Given the description of an element on the screen output the (x, y) to click on. 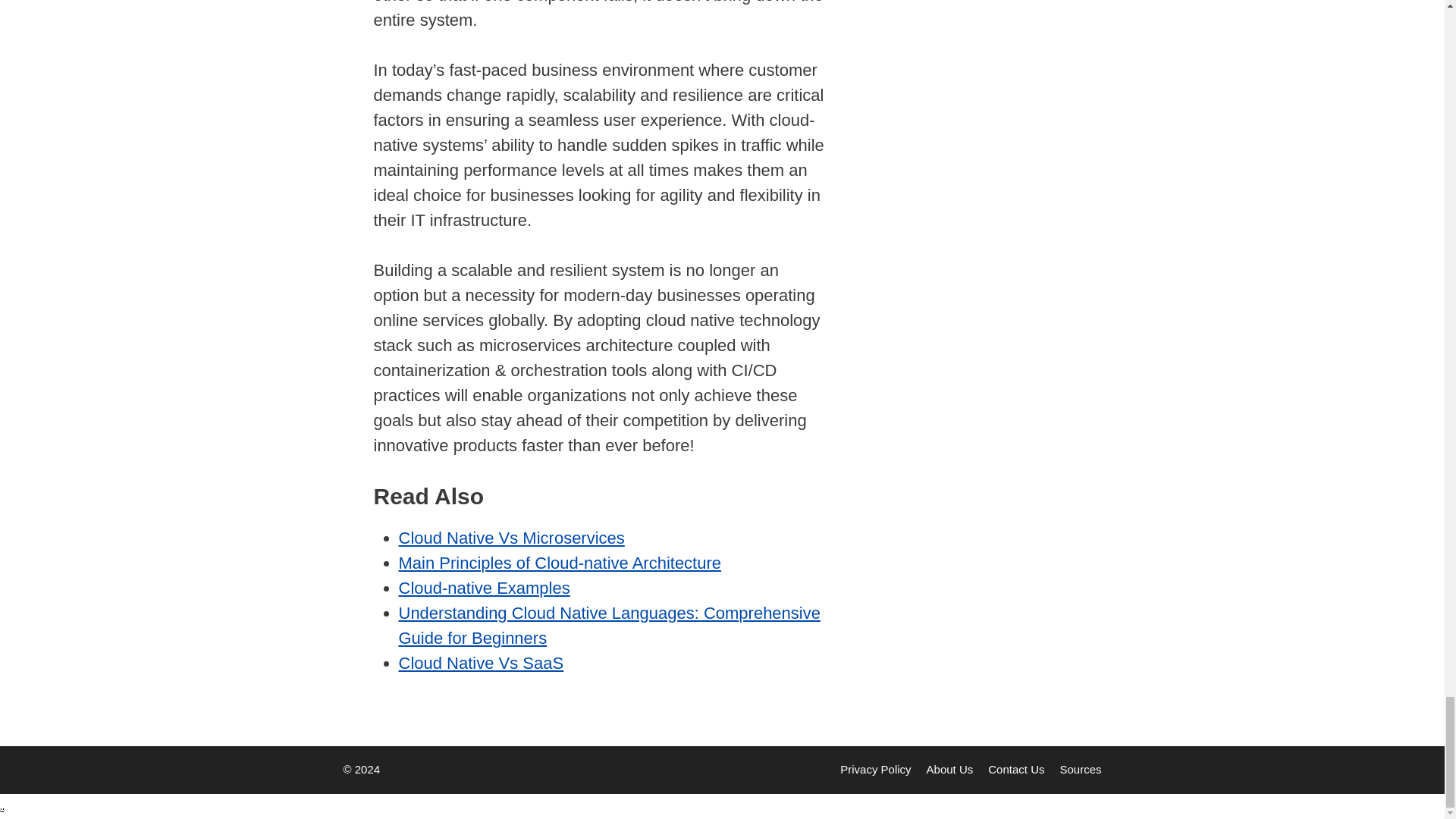
Cloud-native Examples (484, 587)
Contact Us (1015, 768)
Cloud Native Vs Microservices (511, 537)
Cloud Native Vs SaaS (481, 662)
Main Principles of Cloud-native Architecture (560, 562)
Privacy Policy (875, 768)
Main Principles of Cloud-native Architecture (560, 562)
About Us (950, 768)
